Given the description of an element on the screen output the (x, y) to click on. 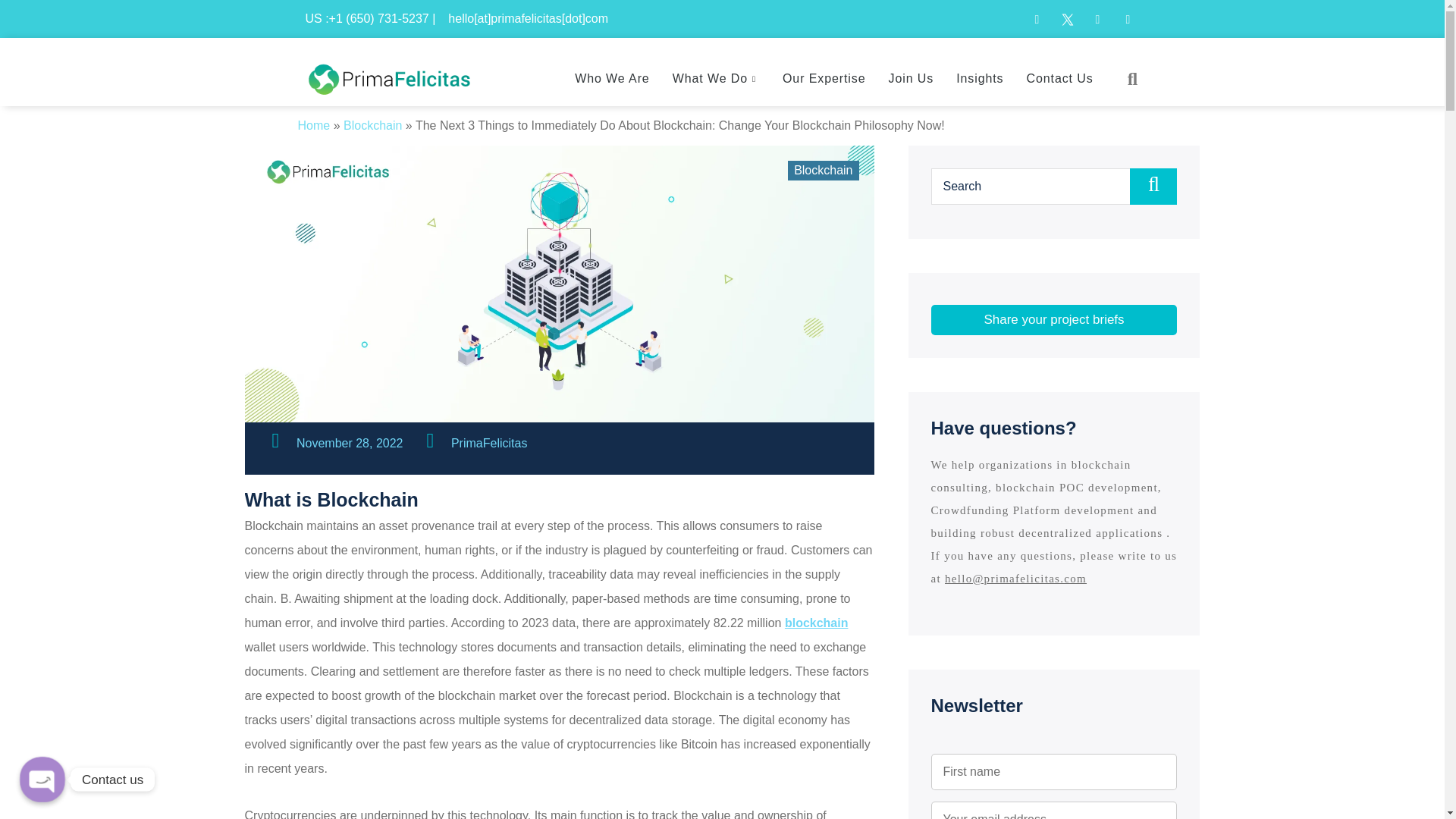
Home (313, 124)
primaFelicitas-logo - PrimaFelicitas (389, 75)
What We Do (716, 79)
Blockchain (372, 124)
Who We Are (612, 79)
